Given the description of an element on the screen output the (x, y) to click on. 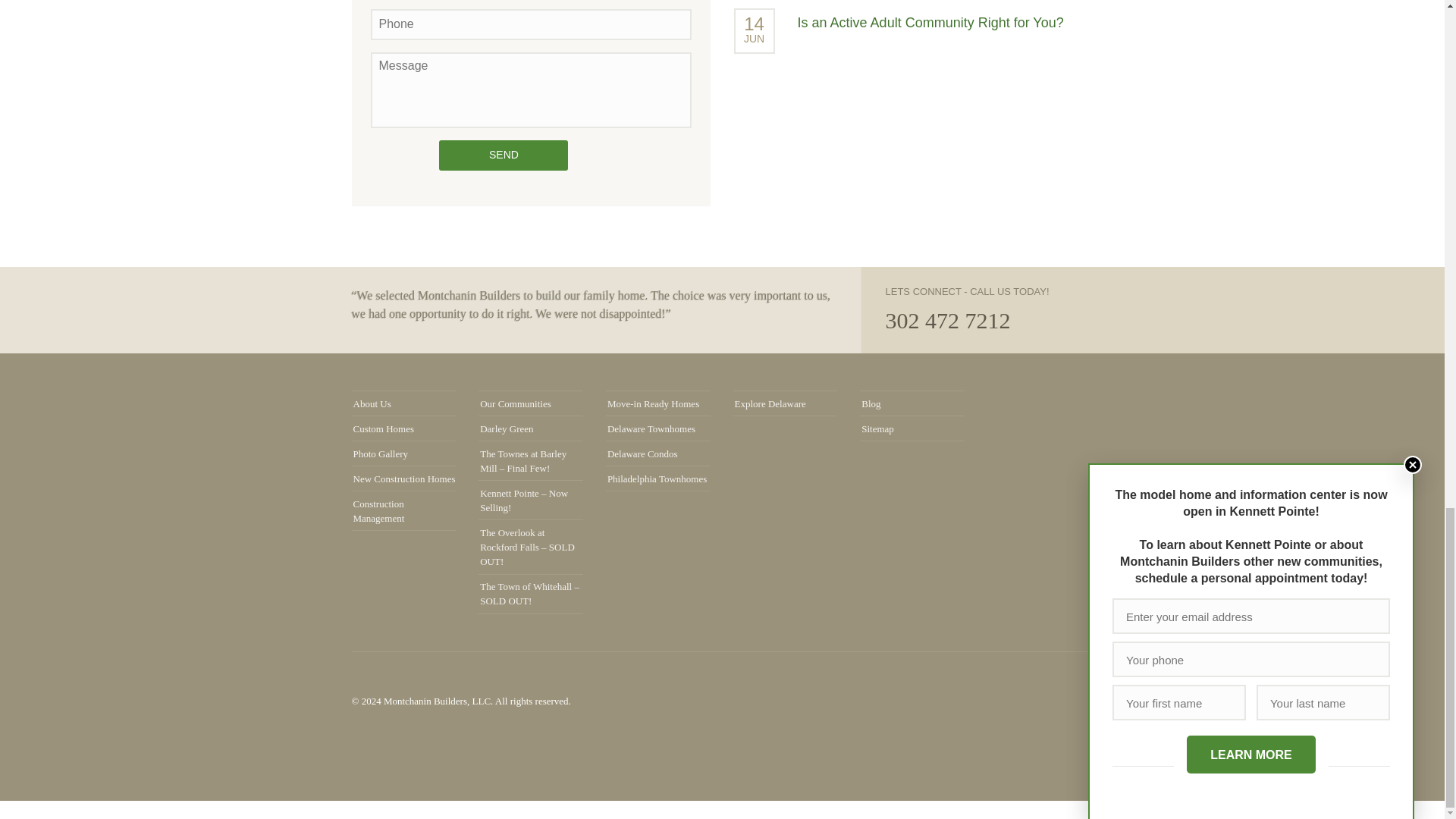
Send (503, 155)
